Given the description of an element on the screen output the (x, y) to click on. 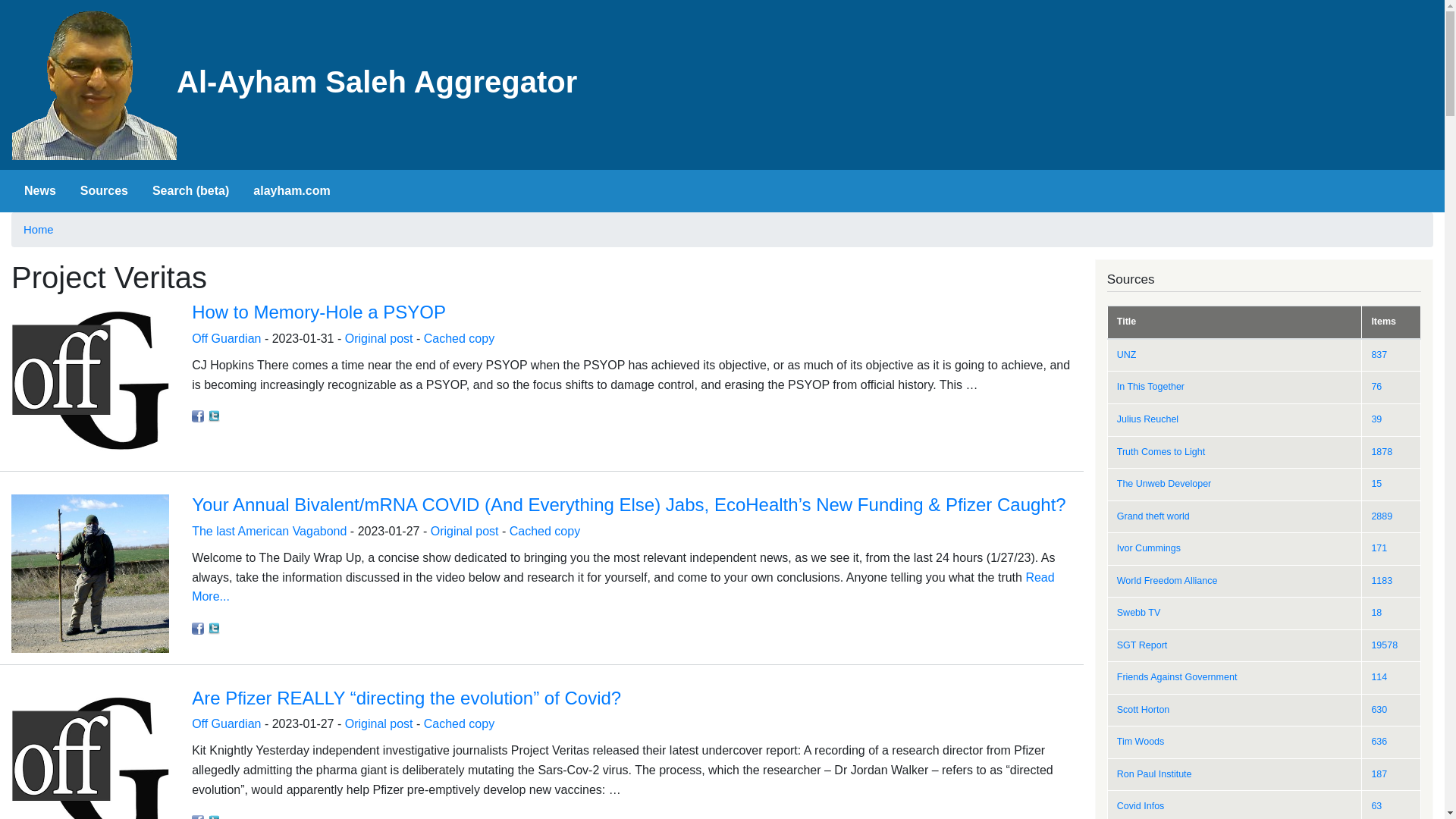
Home (293, 84)
Read More... (623, 586)
Cached copy (544, 530)
Cached copy (459, 723)
My website (291, 191)
Skip to main content (721, 1)
News (39, 191)
Original post (464, 530)
alayham.com (291, 191)
The last American Vagabond (269, 530)
Al-Ayham Saleh Aggregator (293, 84)
Original post (379, 723)
Off Guardian (226, 338)
Sources (103, 191)
How to Memory-Hole a PSYOP (318, 312)
